Given the description of an element on the screen output the (x, y) to click on. 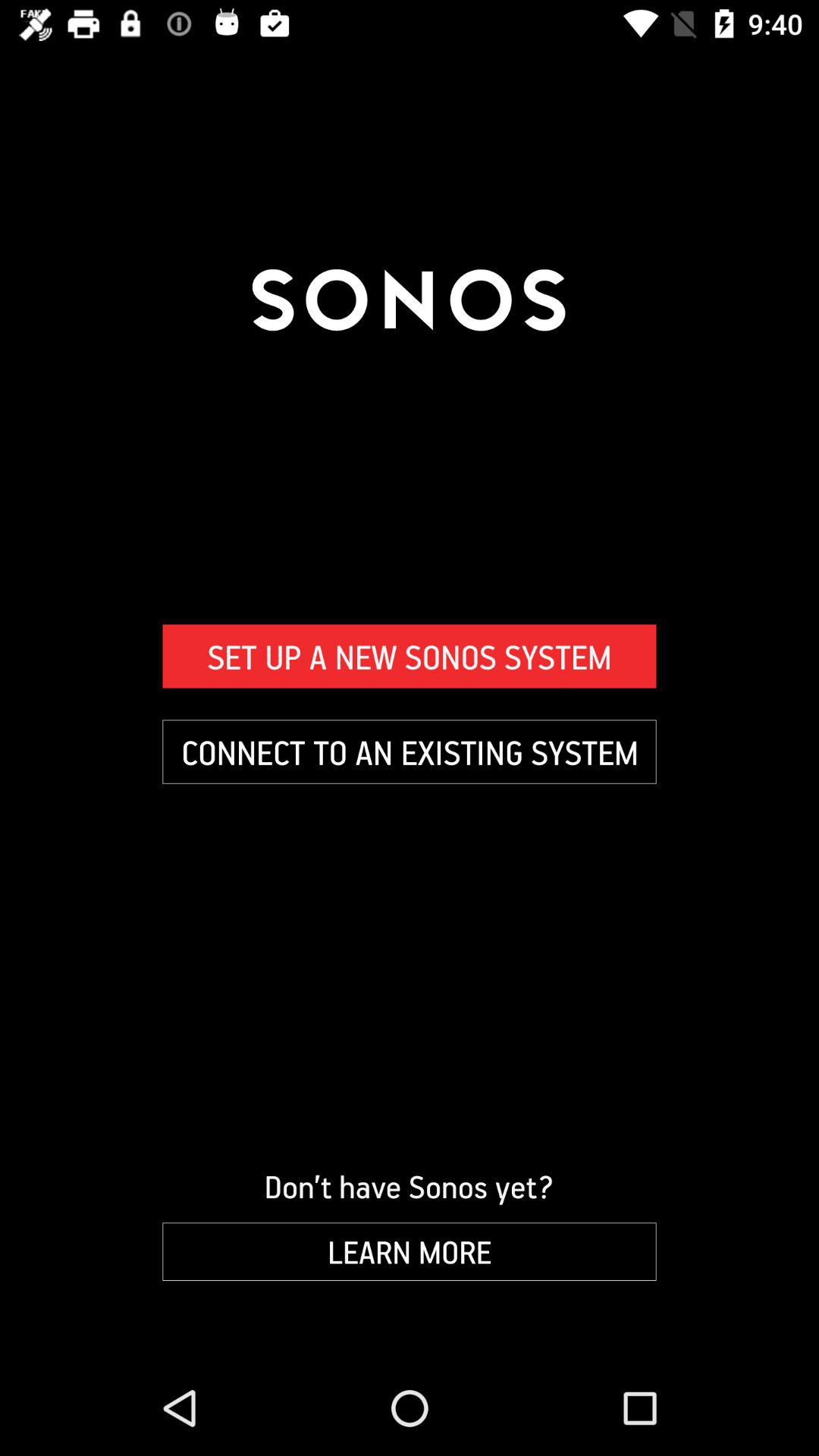
turn on the connect to an (409, 751)
